Given the description of an element on the screen output the (x, y) to click on. 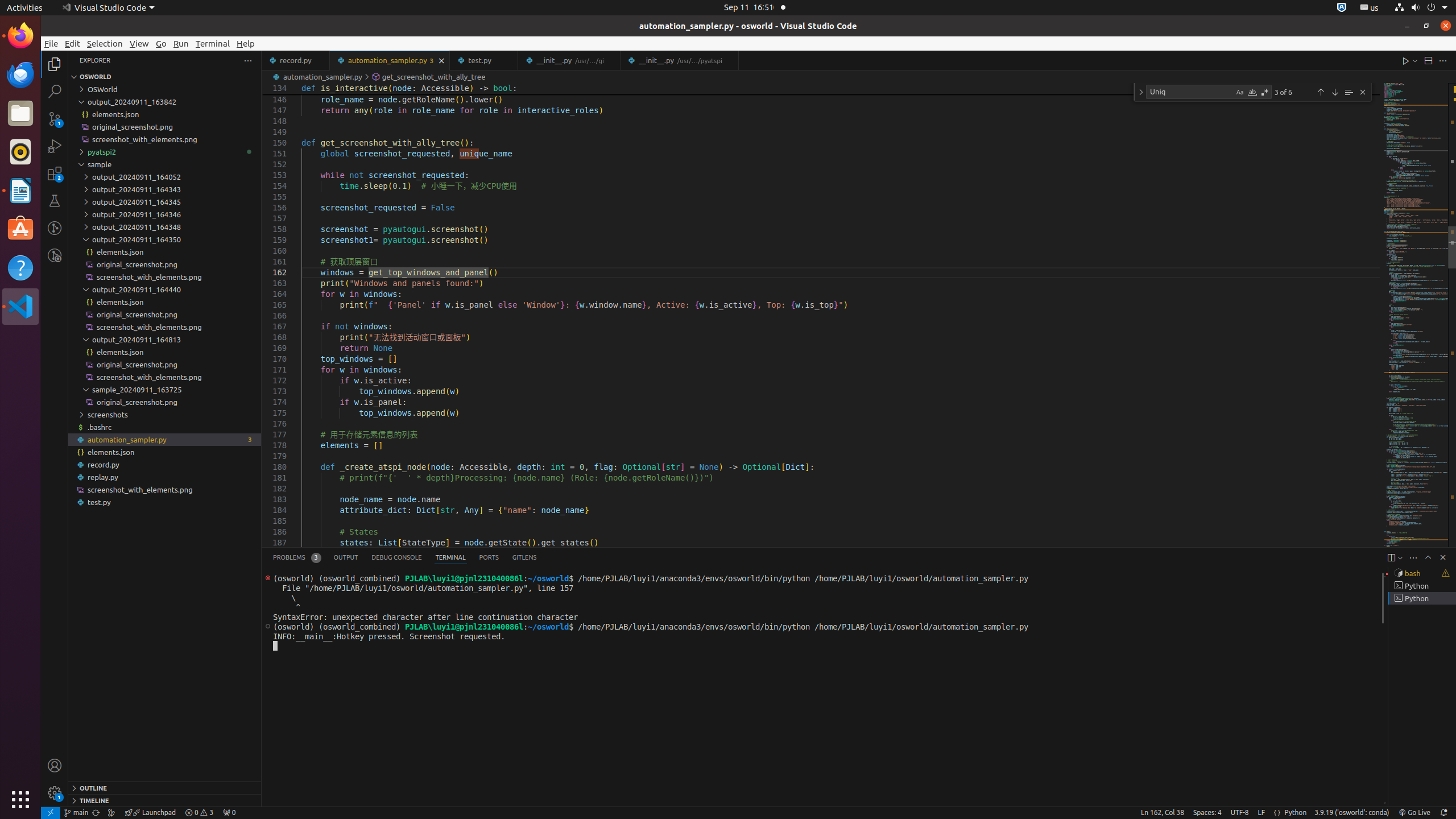
Previous Match (Shift+Enter) Element type: push-button (1320, 91)
output_20240911_164440 Element type: tree-item (164, 289)
OSWorld (Git) - Synchronize Changes Element type: push-button (95, 812)
Hide Panel Element type: push-button (1442, 557)
Run Python File Element type: push-button (1405, 60)
